Given the description of an element on the screen output the (x, y) to click on. 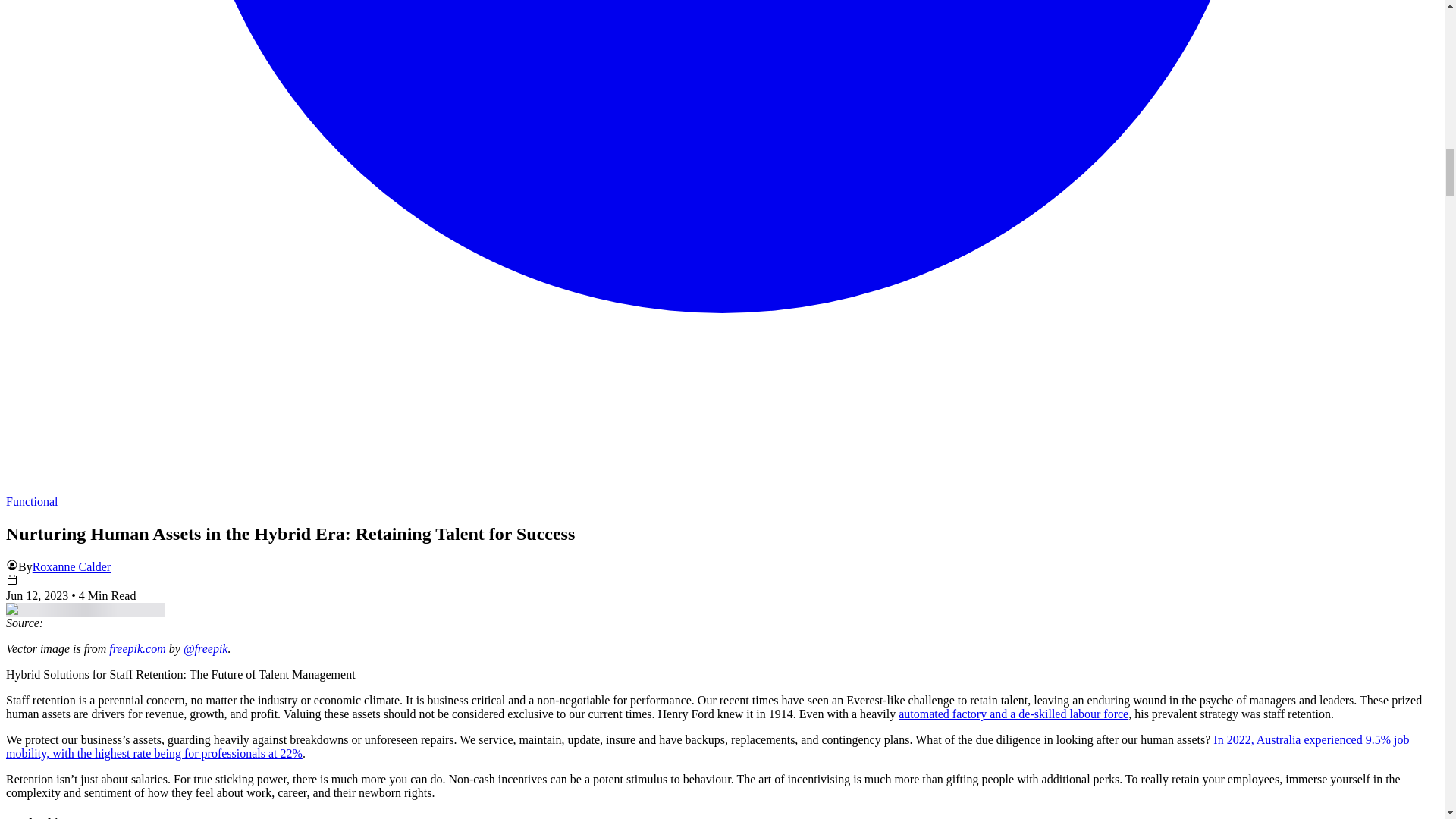
Roxanne Calder (72, 566)
freepik.com (137, 648)
automated factory and a de-skilled labour force (1013, 713)
